Given the description of an element on the screen output the (x, y) to click on. 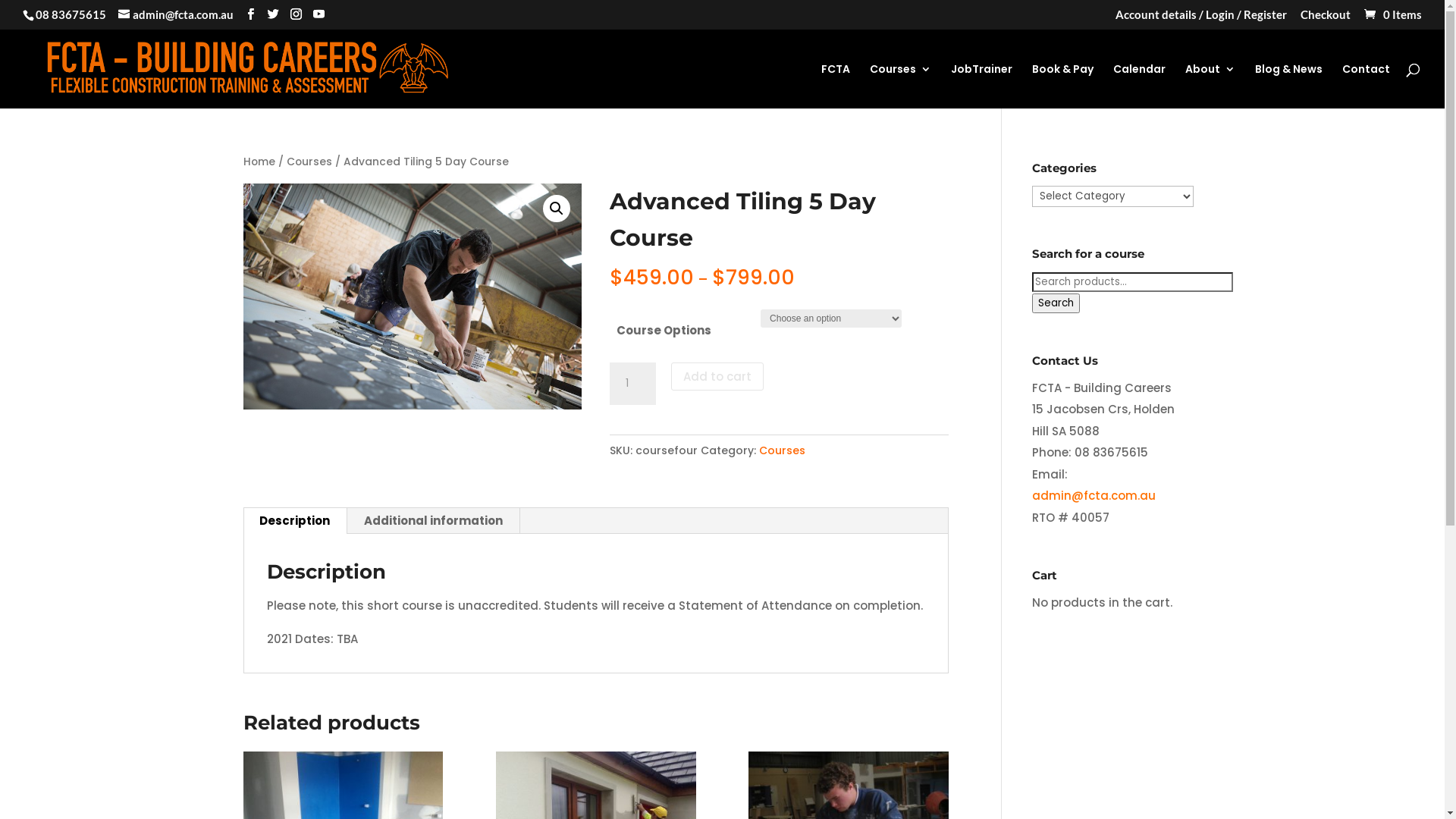
Additional information Element type: text (433, 520)
About Element type: text (1210, 85)
Account details / Login / Register Element type: text (1200, 18)
Checkout Element type: text (1325, 18)
0 Items Element type: text (1391, 14)
Blog & News Element type: text (1288, 85)
Home Element type: text (258, 161)
Courses Element type: text (309, 161)
JobTrainer Element type: text (981, 85)
admin@fcta.com.au Element type: text (1093, 495)
FCTA Element type: text (835, 85)
Add to cart Element type: text (717, 376)
Description Element type: text (294, 520)
Courses Element type: text (900, 85)
admin@fcta.com.au Element type: text (175, 14)
Contact Element type: text (1366, 85)
Advanced Tiling Flyer Image 1 copy Element type: hover (411, 296)
Book & Pay Element type: text (1062, 85)
Courses Element type: text (782, 450)
Calendar Element type: text (1139, 85)
Search Element type: text (1055, 303)
